Given the description of an element on the screen output the (x, y) to click on. 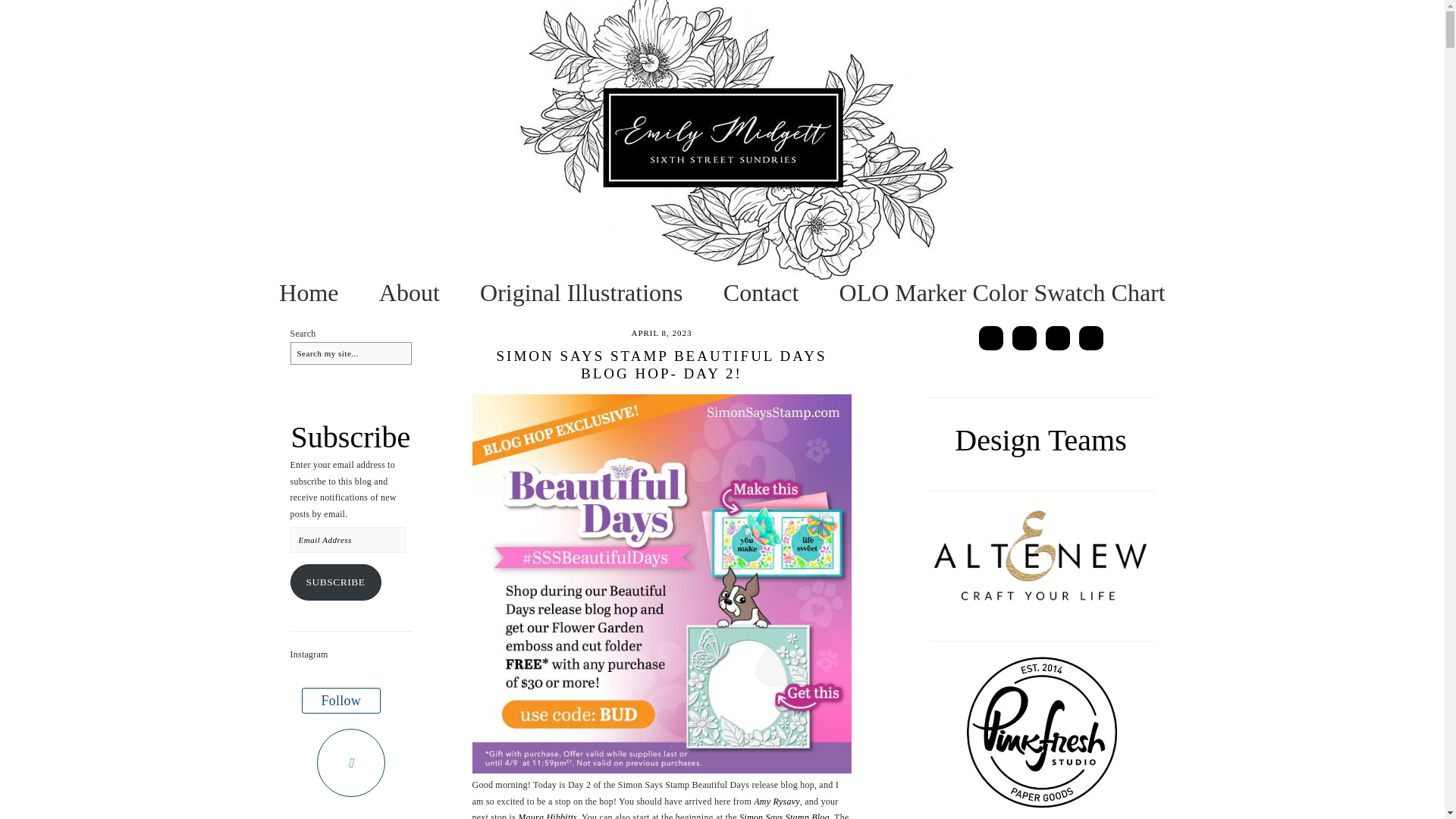
Amy Rysavy (776, 801)
Maura Hibbitts (547, 815)
Home (308, 292)
Simon Says Stamp Blog (784, 815)
Contact (761, 292)
About (408, 292)
Original Illustrations (581, 292)
OLO Marker Color Swatch Chart (1003, 292)
